Given the description of an element on the screen output the (x, y) to click on. 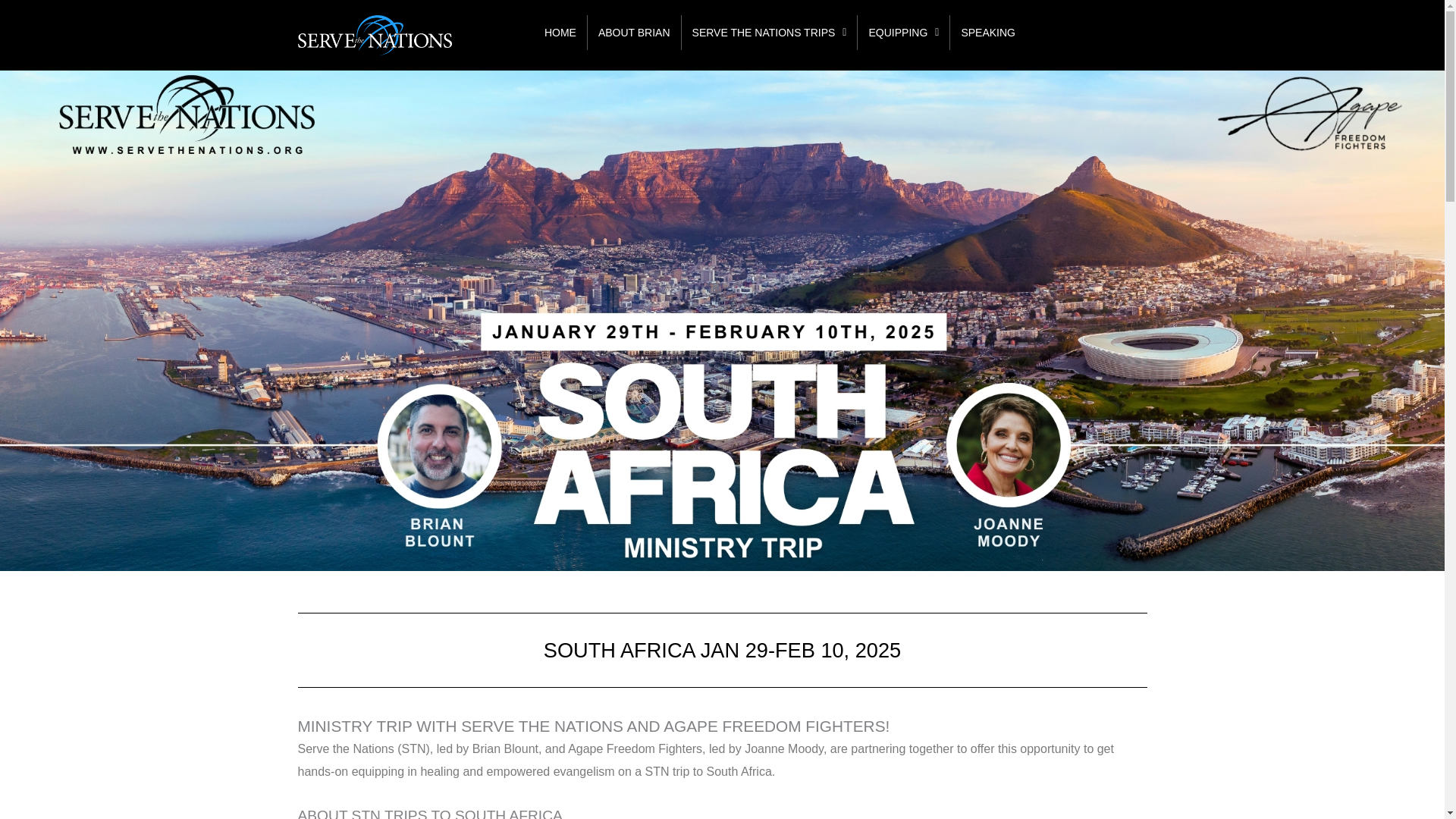
EQUIPPING (903, 32)
SERVE THE NATIONS TRIPS (769, 32)
ABOUT BRIAN (634, 32)
SPEAKING (988, 32)
HOME (560, 32)
